Given the description of an element on the screen output the (x, y) to click on. 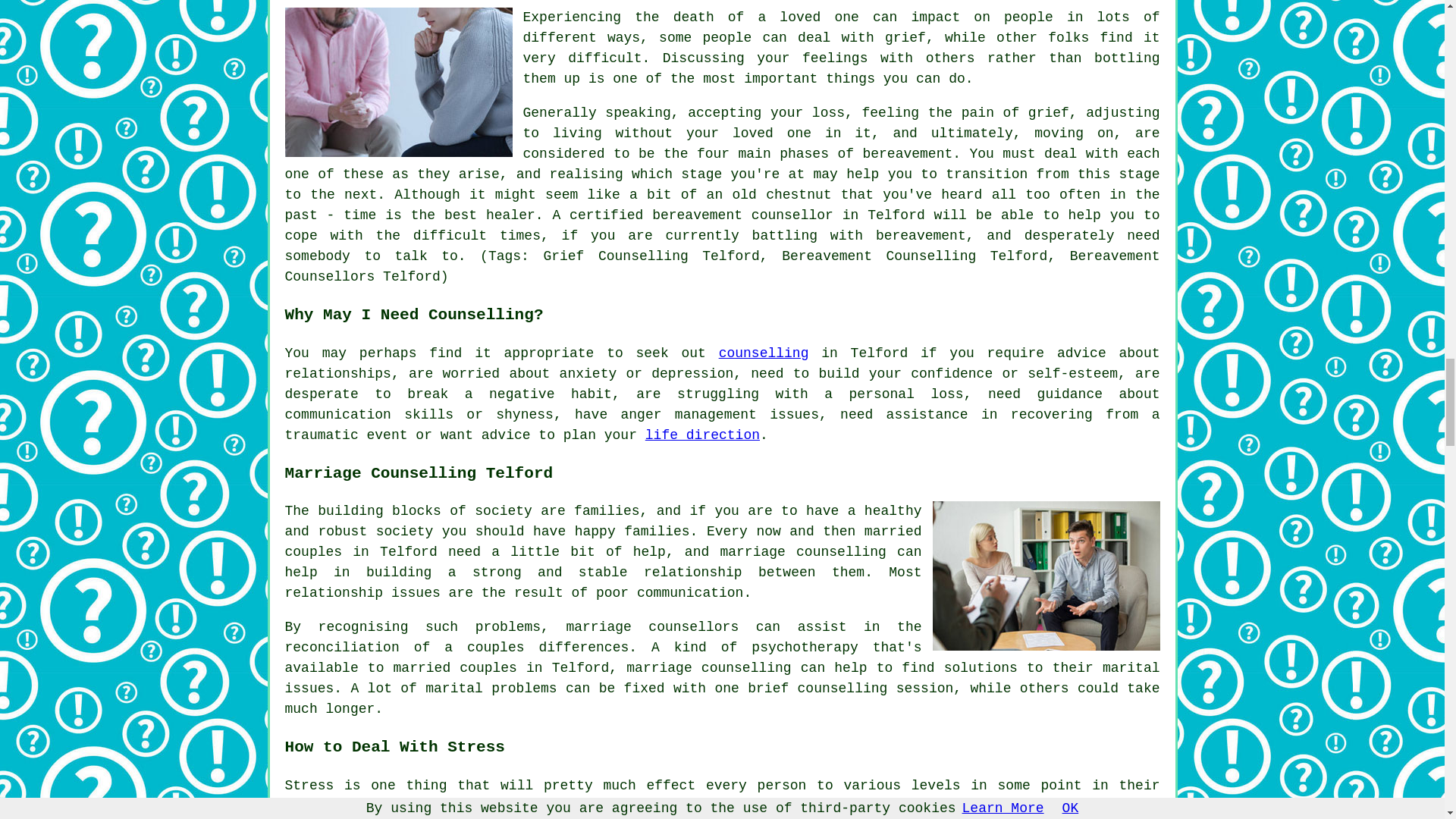
Marriage Counselling Telford UK (1046, 575)
